Given the description of an element on the screen output the (x, y) to click on. 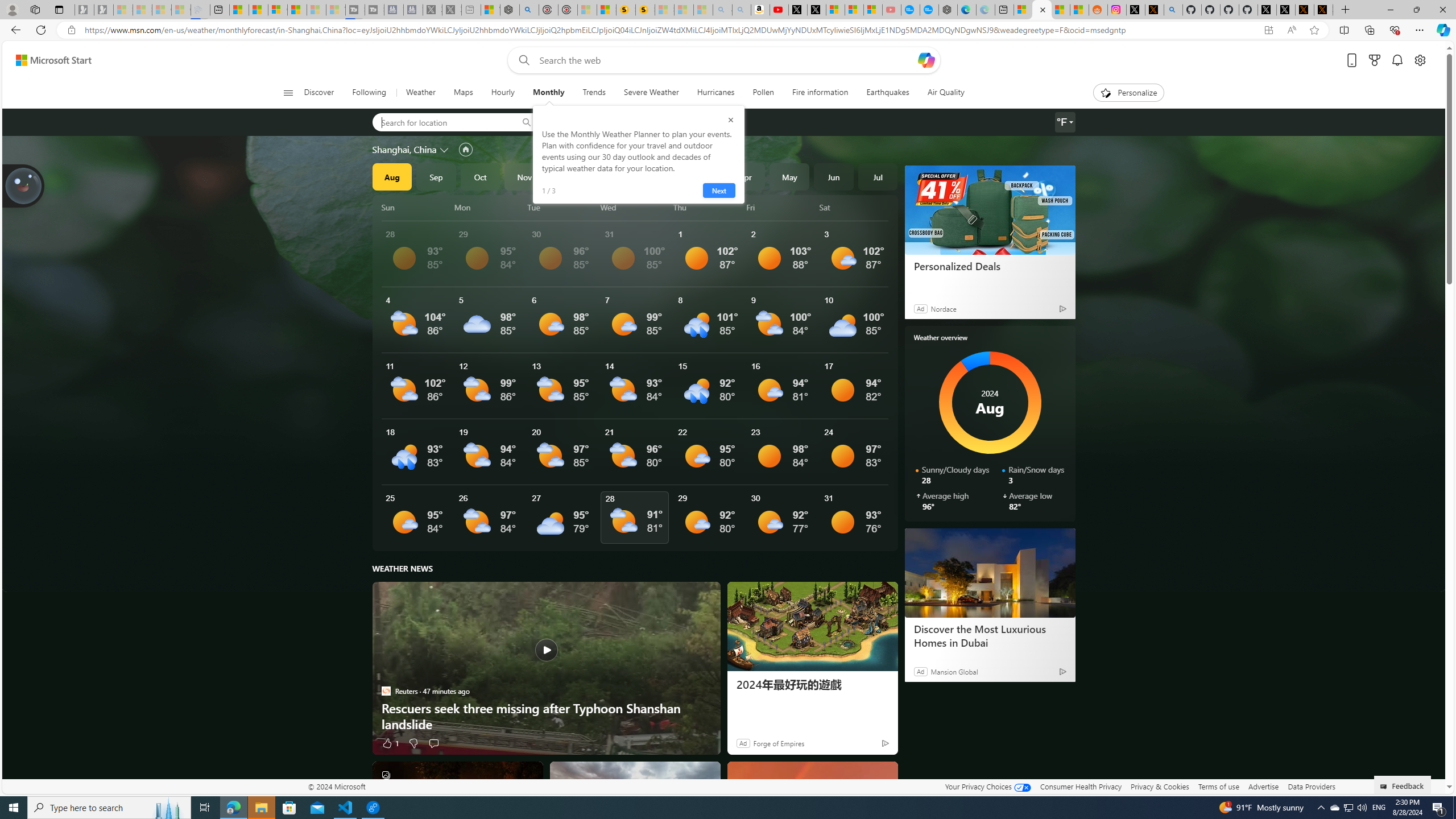
Terms of use (1218, 786)
Rescuers seek three missing after Typhoon Shanshan landslide (545, 668)
Dec (568, 176)
Open settings (1420, 60)
Data Providers (1311, 785)
